Given the description of an element on the screen output the (x, y) to click on. 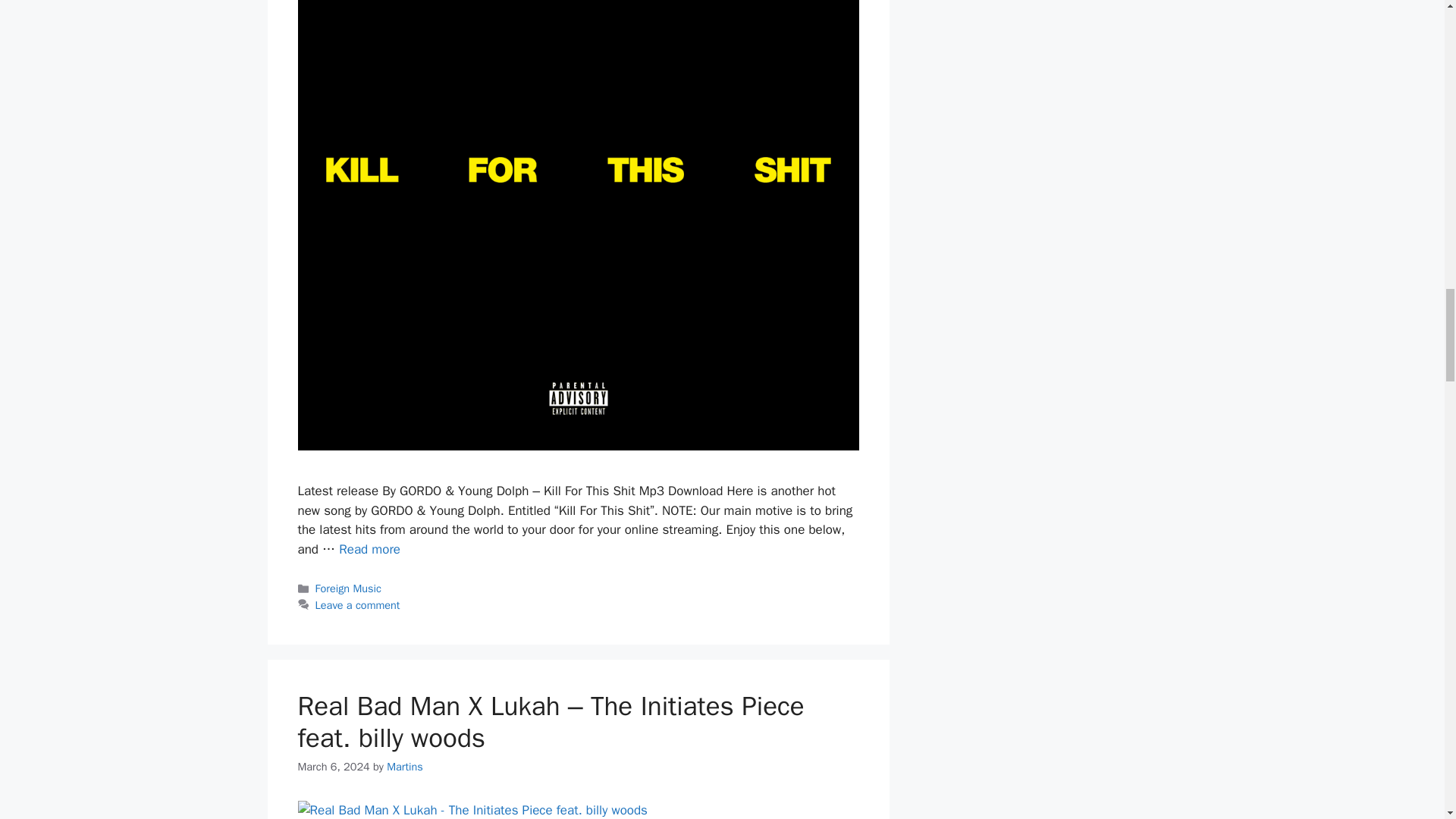
Foreign Music (348, 588)
Leave a comment (357, 604)
View all posts by Martins (405, 766)
Martins (405, 766)
Read more (369, 549)
